Given the description of an element on the screen output the (x, y) to click on. 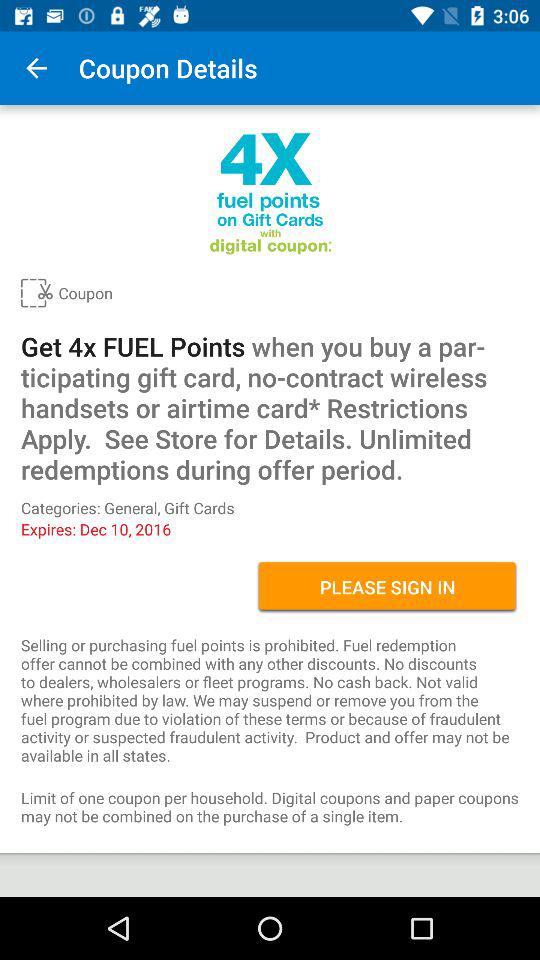
open item above selling or purchasing item (387, 587)
